Given the description of an element on the screen output the (x, y) to click on. 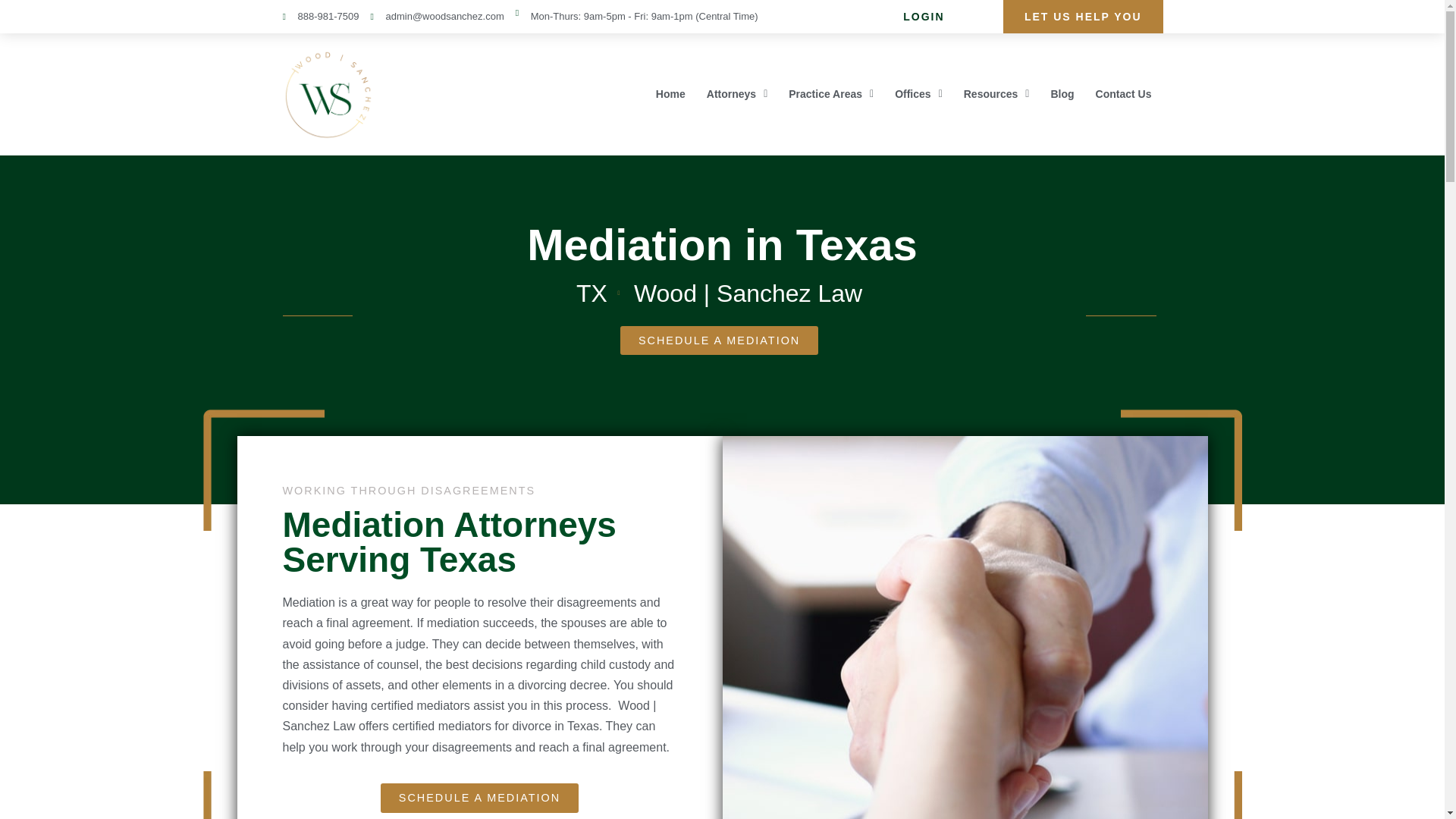
Resources (997, 93)
Blog (1061, 93)
Home (670, 65)
bottom-left-po9xlbrm51t5x35h53rqz1nh6bhmtdxmw35q94o9j4 (263, 794)
Attorneys (736, 67)
LOGIN (923, 2)
LET US HELP YOU (1083, 2)
Contact Us (1122, 93)
left-top-po9xlel4pjx0vx1domzmoixuyh3qgh8twh46oyk30g (263, 469)
Offices (918, 89)
888-981-7509 (320, 4)
bottom-right-po9xldnaipvqkb2qu4l0416ed38d8s53kcgp7olh6o (1181, 794)
Practice Areas (830, 72)
